Given the description of an element on the screen output the (x, y) to click on. 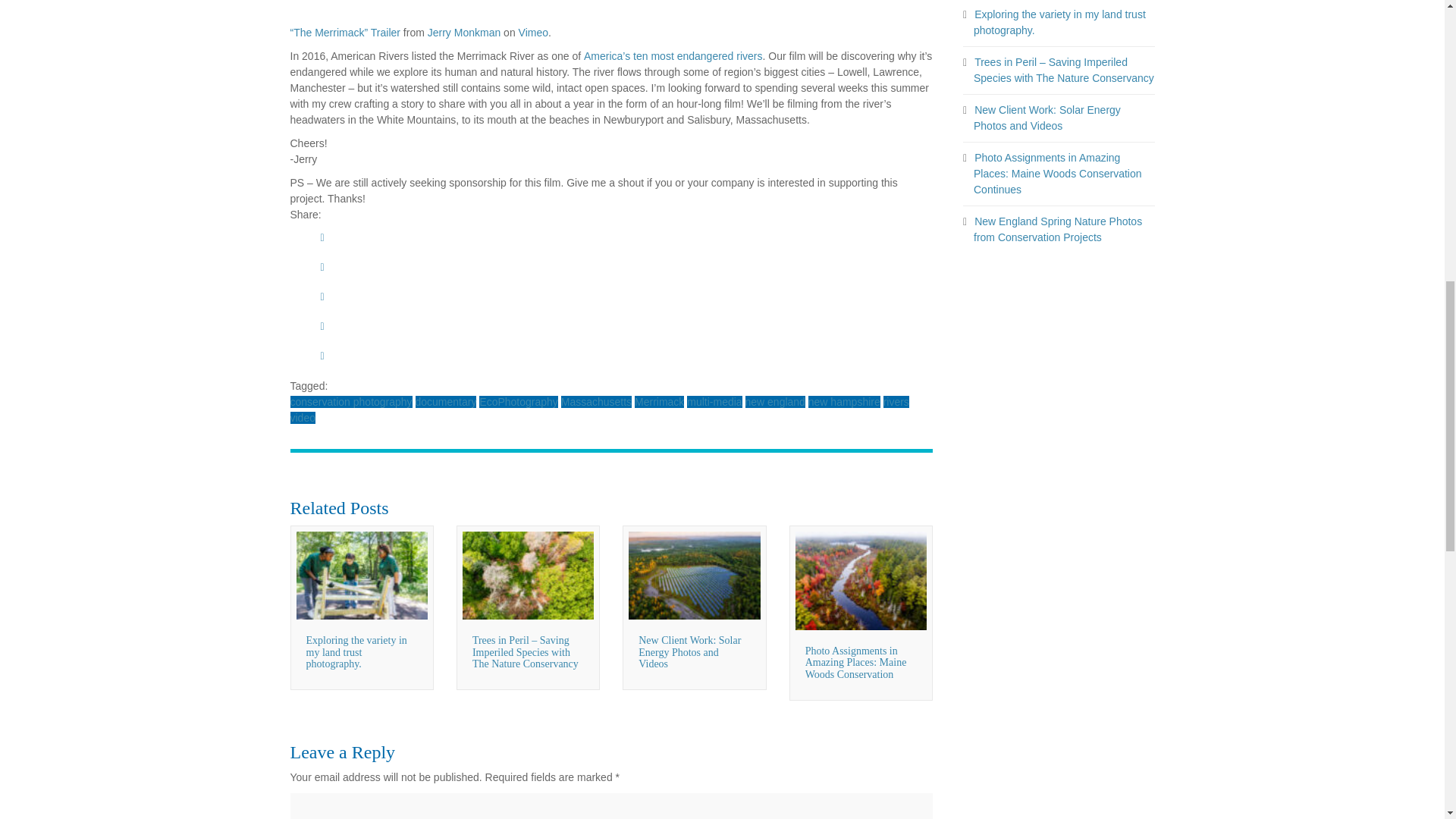
Jerry Monkman (464, 32)
Exploring the variety in my land trust photography. (356, 651)
Vimeo (533, 32)
